Given the description of an element on the screen output the (x, y) to click on. 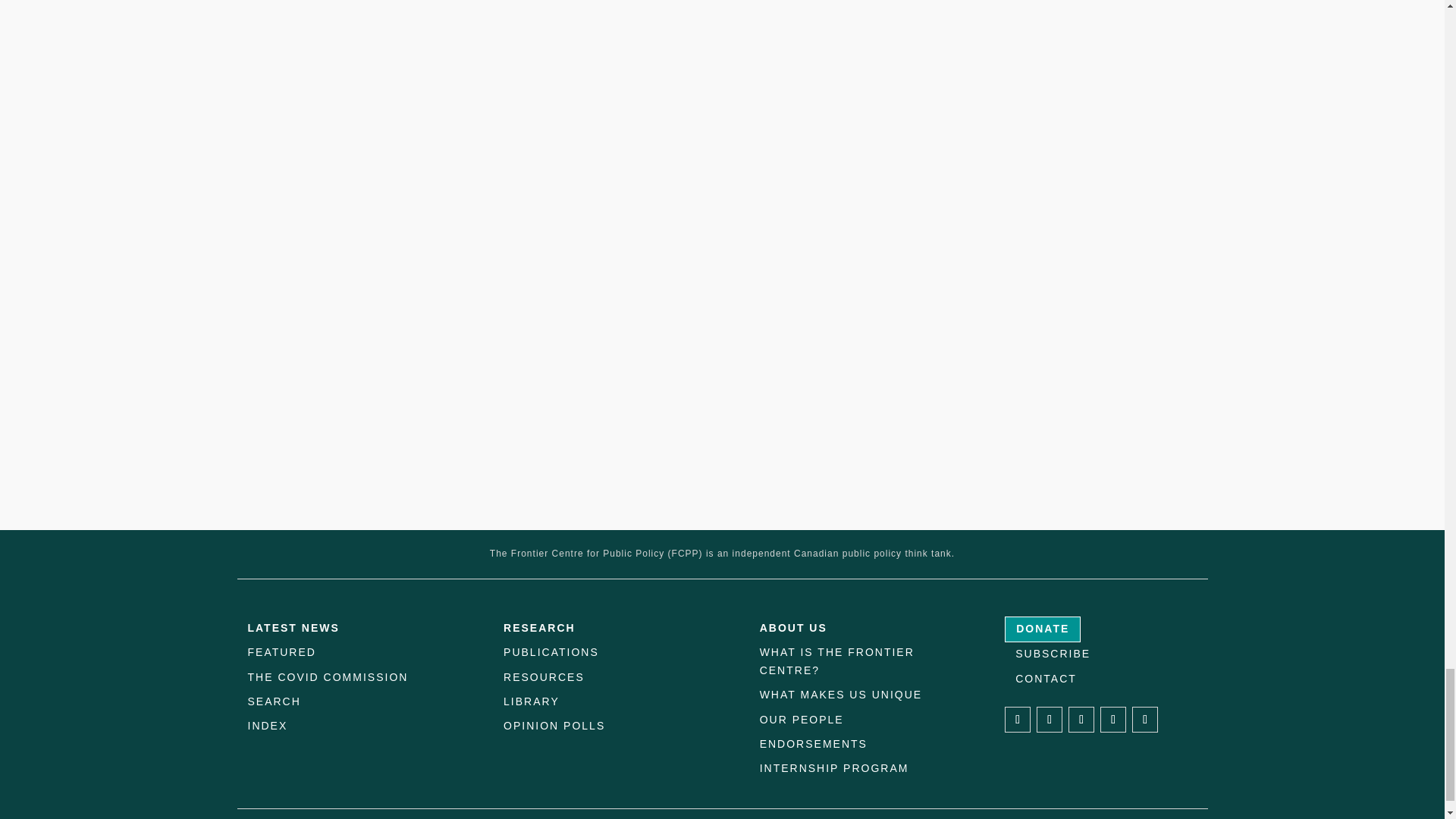
Follow on X (1049, 719)
Follow on SoundCloud (1112, 719)
Follow on Facebook (1017, 719)
Follow on Youtube (1144, 719)
Follow on LinkedIn (1081, 719)
